Given the description of an element on the screen output the (x, y) to click on. 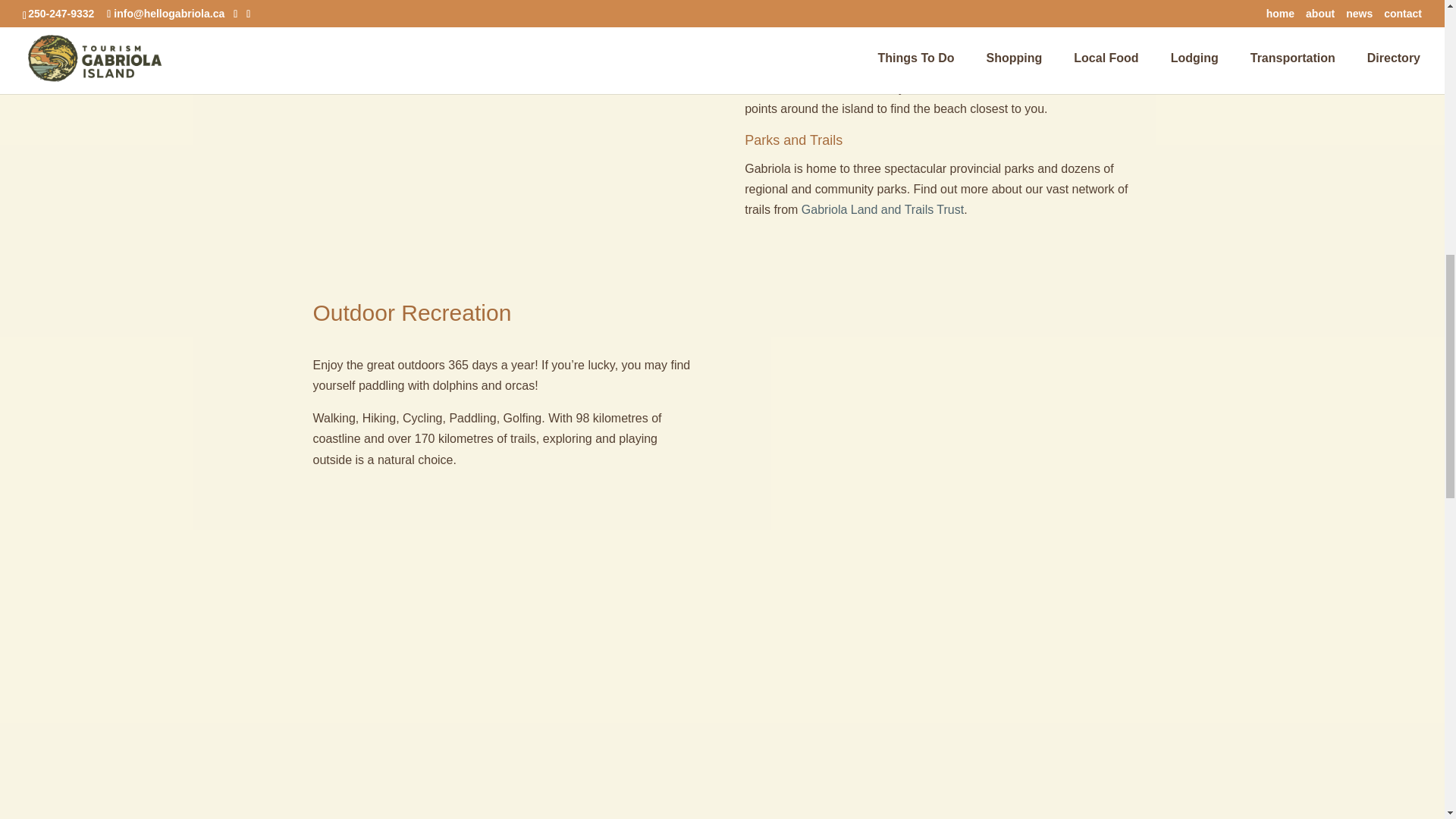
Gabriola Land and Trails Trust (882, 209)
